Given the description of an element on the screen output the (x, y) to click on. 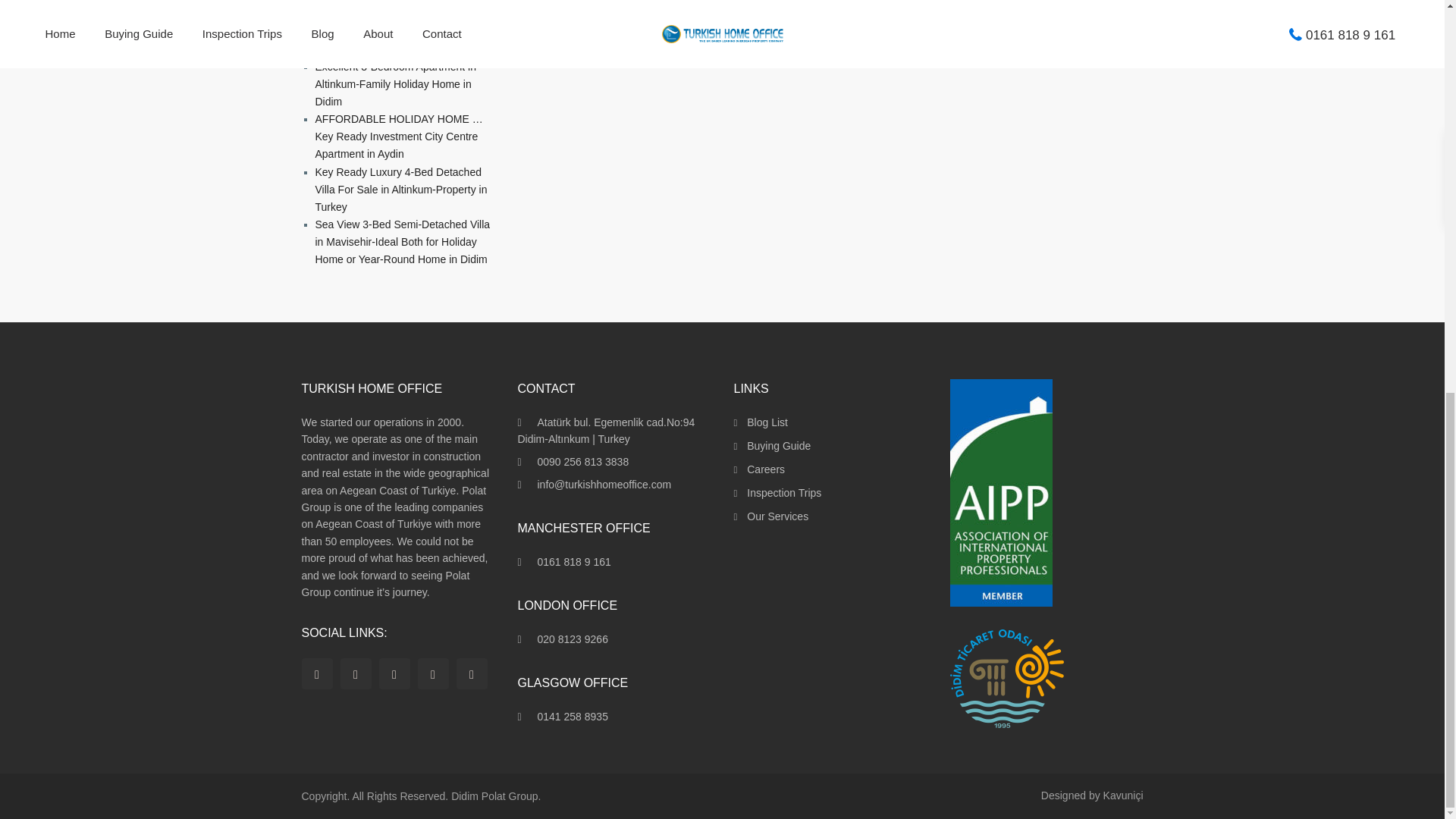
Affordable 2-Bed For Sale in Altinkum-2nd Home in Didim (382, 1)
